Given the description of an element on the screen output the (x, y) to click on. 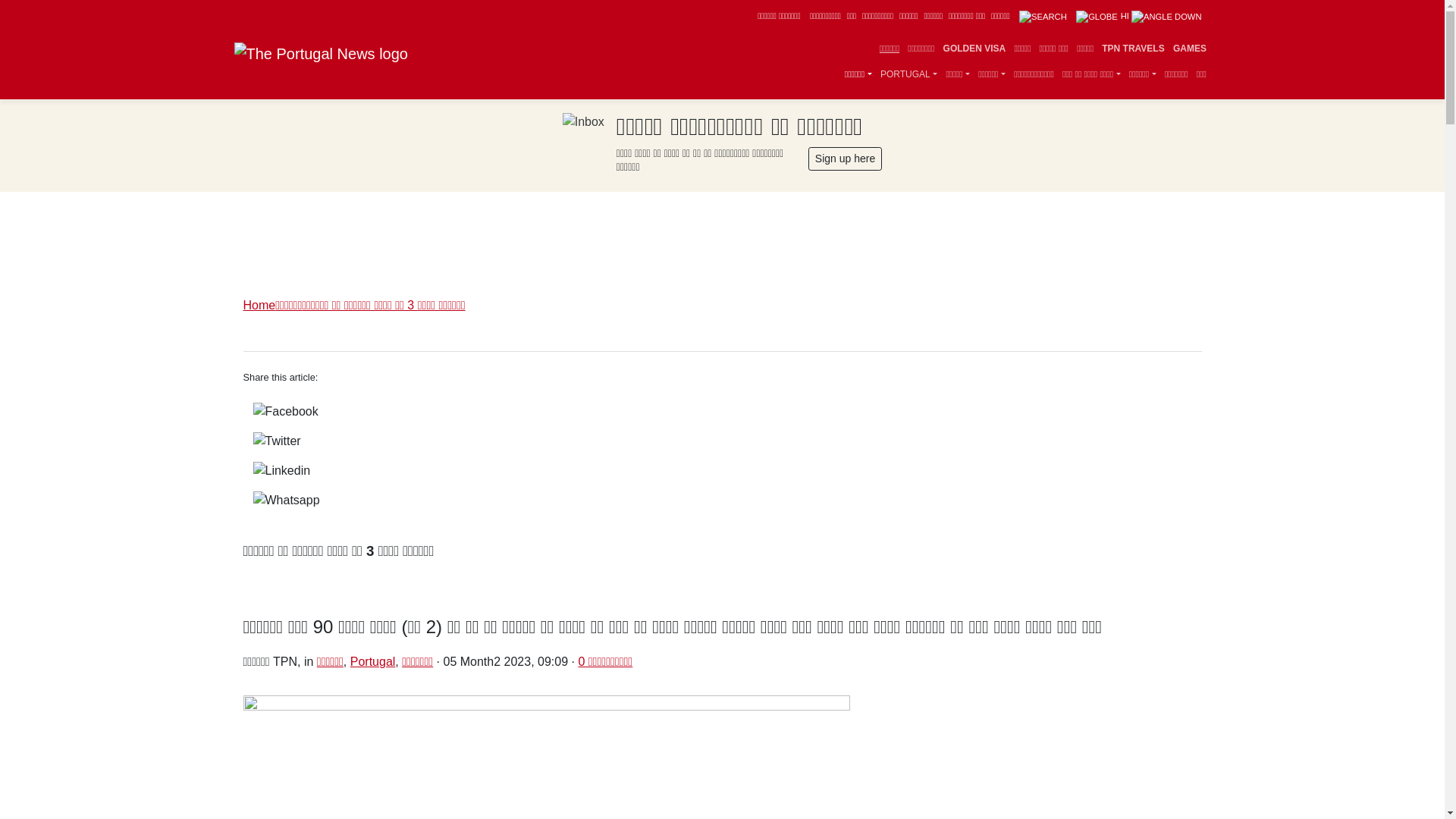
PORTUGAL (909, 73)
TPN TRAVELS (1133, 48)
GAMES (1189, 48)
HI (1138, 15)
GOLDEN VISA (974, 48)
